Given the description of an element on the screen output the (x, y) to click on. 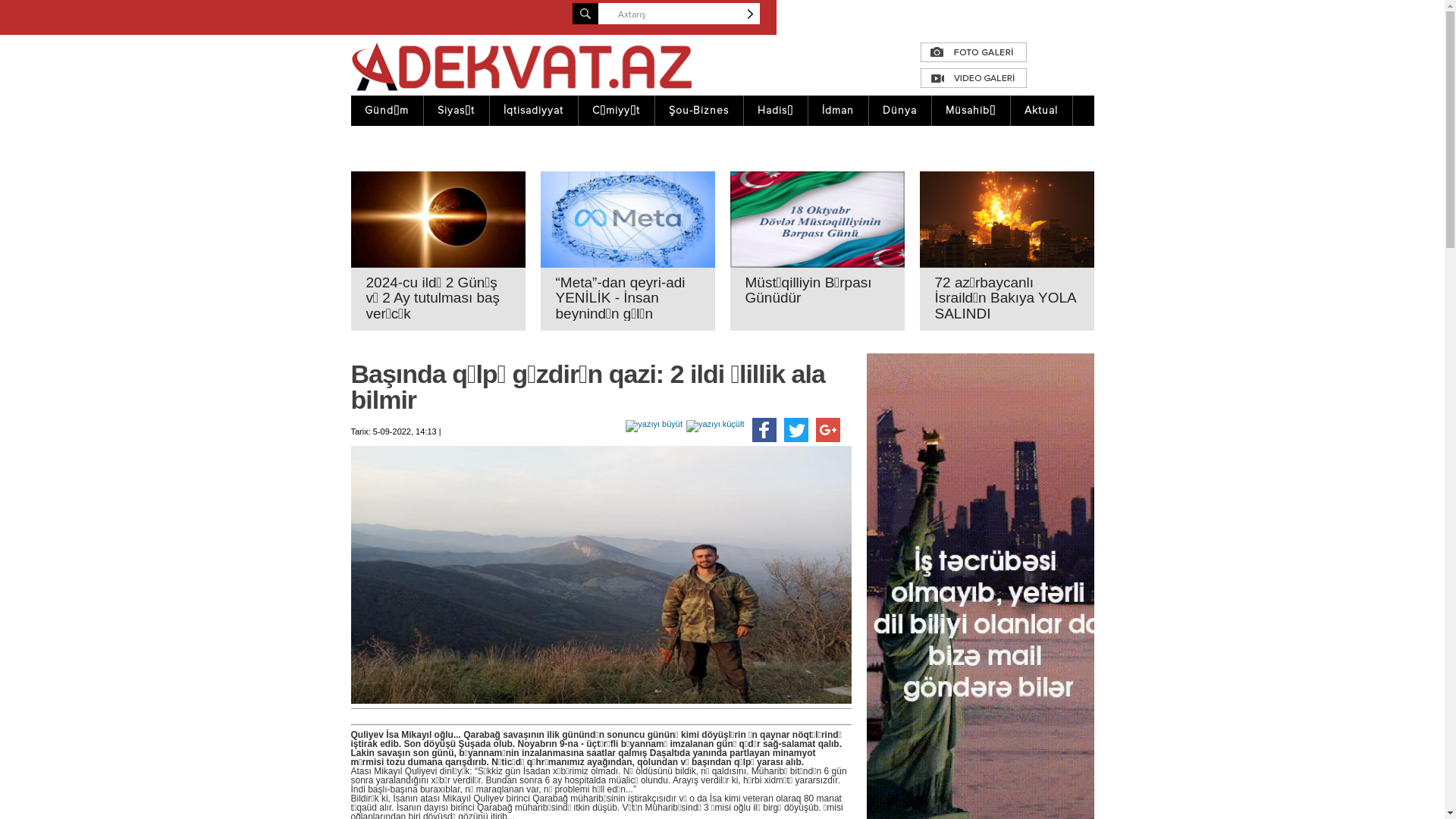
Ara Element type: hover (751, 13)
Aktual Element type: text (1040, 110)
